Given the description of an element on the screen output the (x, y) to click on. 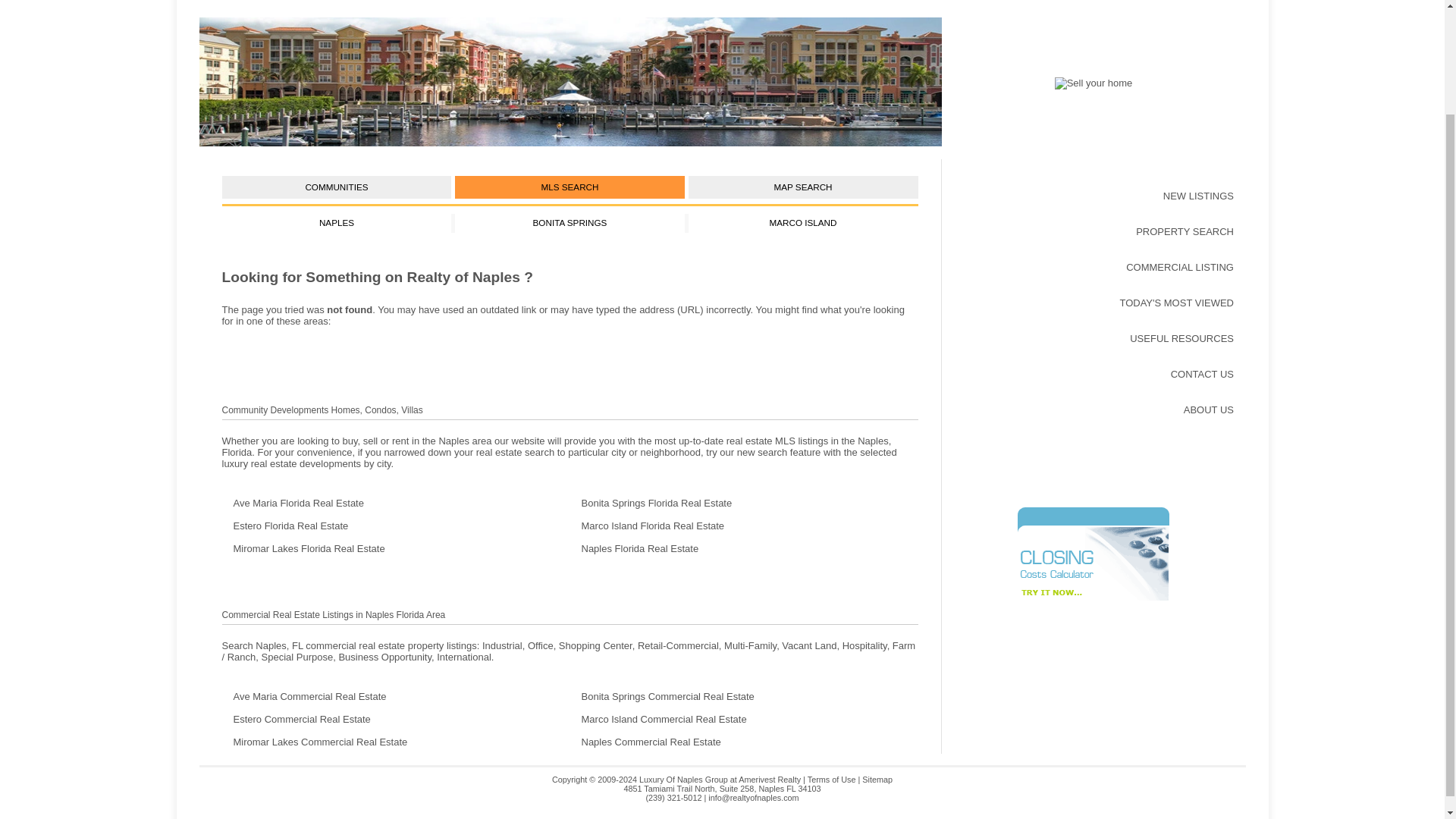
CONTACT US (1093, 374)
Estero Florida Real Estate - Homes and Condos for Sale (395, 525)
Naples Florida Real Estate (569, 81)
Bonita Springs Florida Real Estate (744, 503)
Miromar Lakes Commercial Real Estate (395, 742)
Contact Luxury Of Naples Group at Amerivest Realty (1093, 82)
Marco Island Florida Real Estate - Homes and Condos for Sale (744, 525)
COMMERCIAL LISTING (1093, 267)
Naples Florida Real Estate (744, 548)
Estero Florida Real Estate (395, 525)
Bonita Springs Commercial Real Estate (744, 696)
NEW LISTINGS (1093, 195)
MAP SEARCH (803, 187)
Bonita Springs Commercial Real Estate Listing (744, 696)
Miromar Lakes Commercial Real Estate Listing (395, 742)
